Given the description of an element on the screen output the (x, y) to click on. 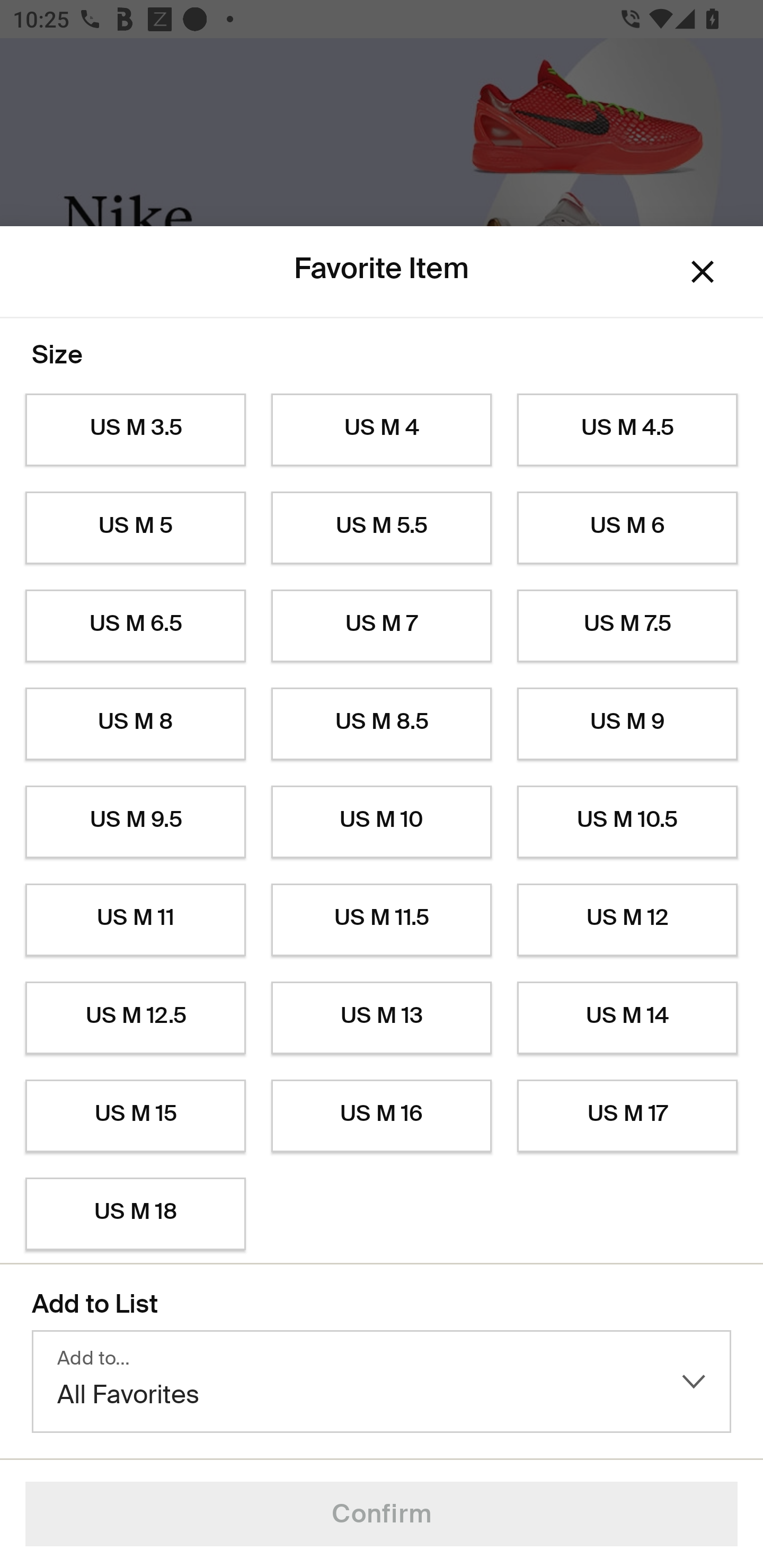
Dismiss (702, 271)
US M 3.5 (135, 430)
US M 4 (381, 430)
US M 4.5 (627, 430)
US M 5 (135, 527)
US M 5.5 (381, 527)
US M 6 (627, 527)
US M 6.5 (135, 626)
US M 7 (381, 626)
US M 7.5 (627, 626)
US M 8 (135, 724)
US M 8.5 (381, 724)
US M 9 (627, 724)
US M 9.5 (135, 822)
US M 10 (381, 822)
US M 10.5 (627, 822)
US M 11 (135, 919)
US M 11.5 (381, 919)
US M 12 (627, 919)
US M 12.5 (135, 1018)
US M 13 (381, 1018)
US M 14 (627, 1018)
US M 15 (135, 1116)
US M 16 (381, 1116)
US M 17 (627, 1116)
US M 18 (135, 1214)
Add to… All Favorites (381, 1381)
Confirm (381, 1513)
